Given the description of an element on the screen output the (x, y) to click on. 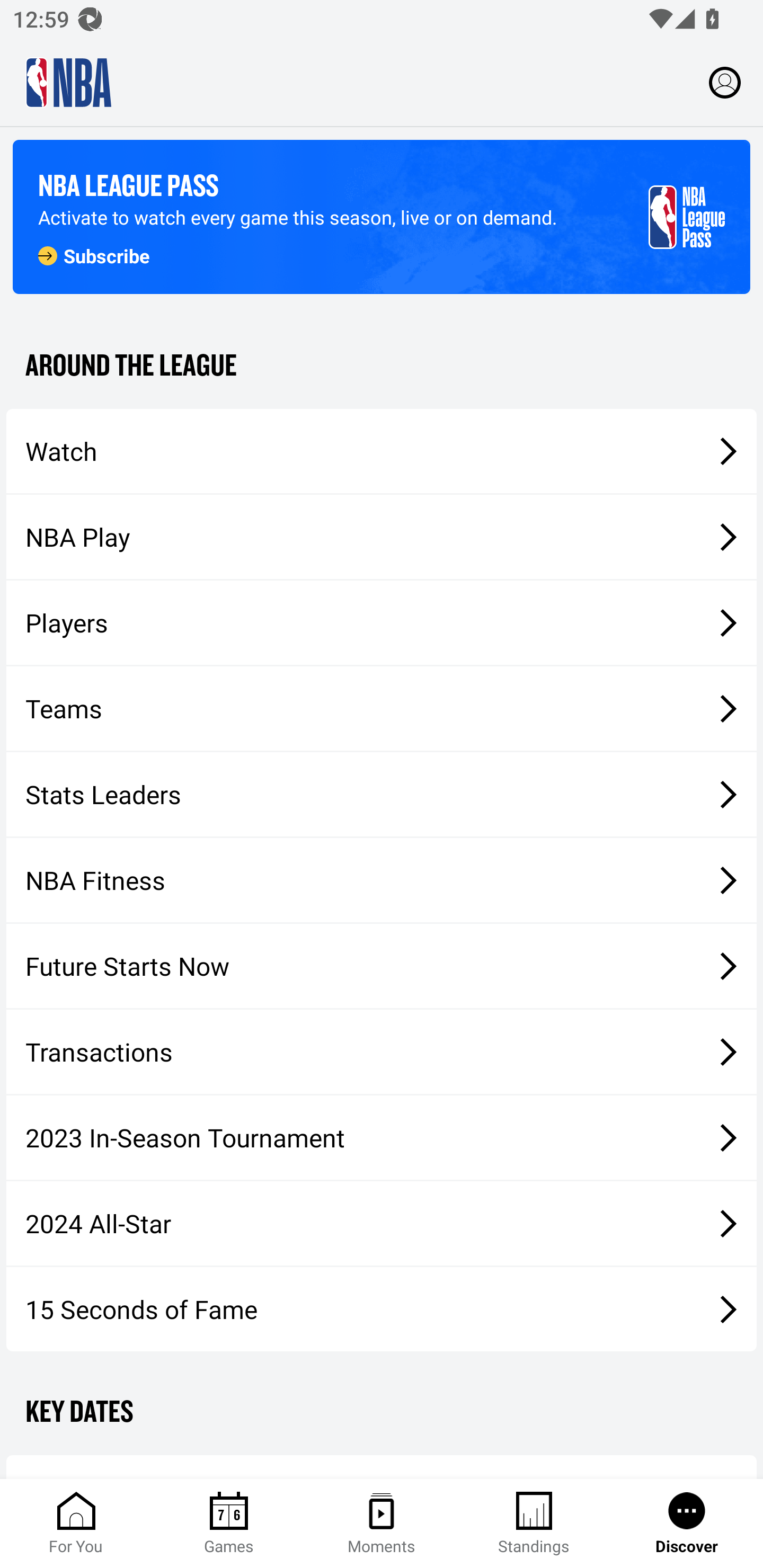
Profile (724, 81)
Watch (381, 451)
NBA Play (381, 536)
Players (381, 622)
Teams (381, 708)
Stats Leaders (381, 793)
NBA Fitness (381, 879)
Future Starts Now (381, 965)
Transactions (381, 1051)
2023 In-Season Tournament (381, 1137)
2024 All-Star (381, 1222)
15 Seconds of Fame (381, 1308)
For You (76, 1523)
Games (228, 1523)
Moments (381, 1523)
Standings (533, 1523)
